Given the description of an element on the screen output the (x, y) to click on. 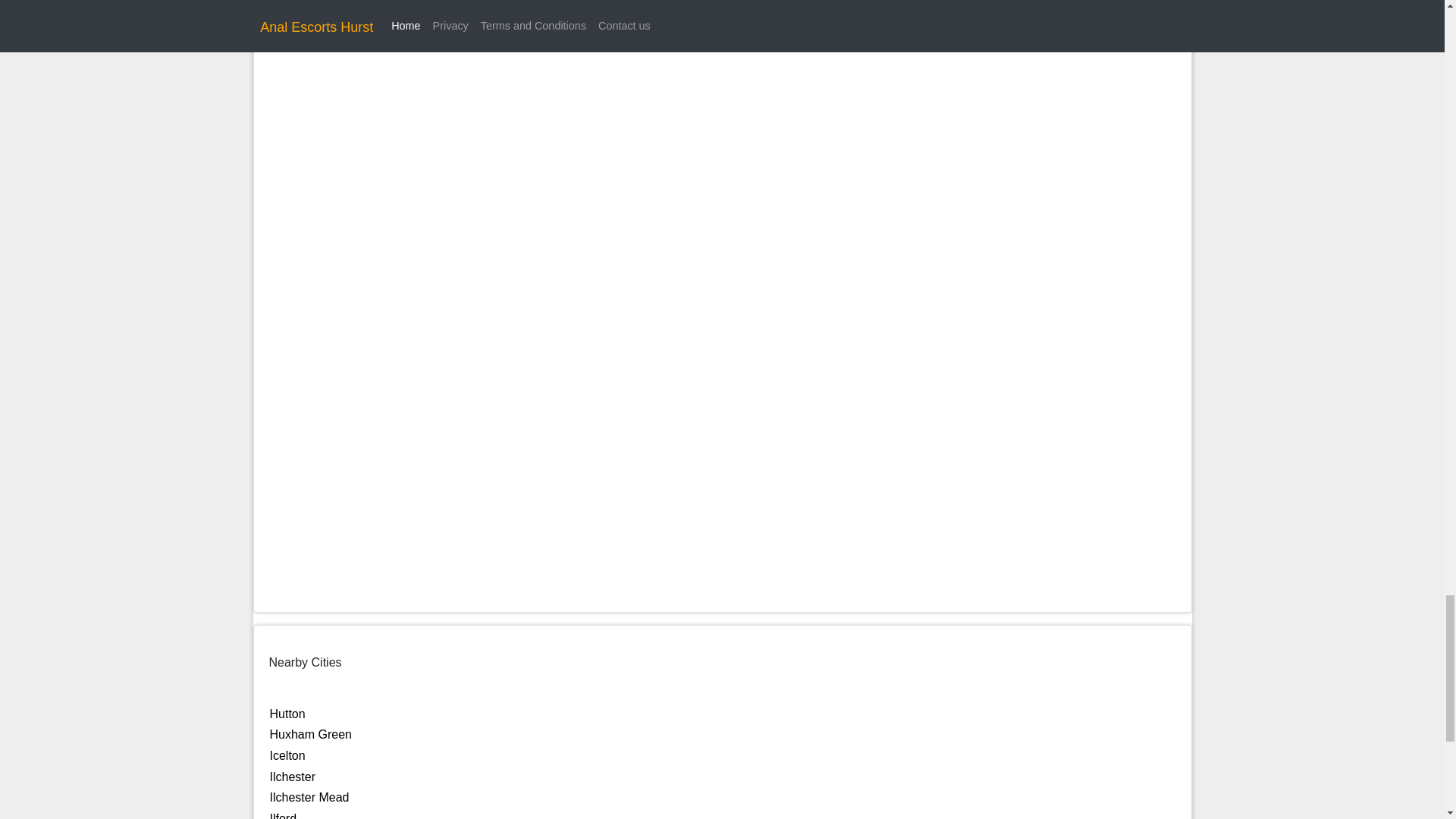
Ilford (283, 815)
Ilchester Mead (309, 797)
Hutton (287, 713)
Huxham Green (310, 734)
Ilchester (292, 776)
Icelton (287, 755)
